Given the description of an element on the screen output the (x, y) to click on. 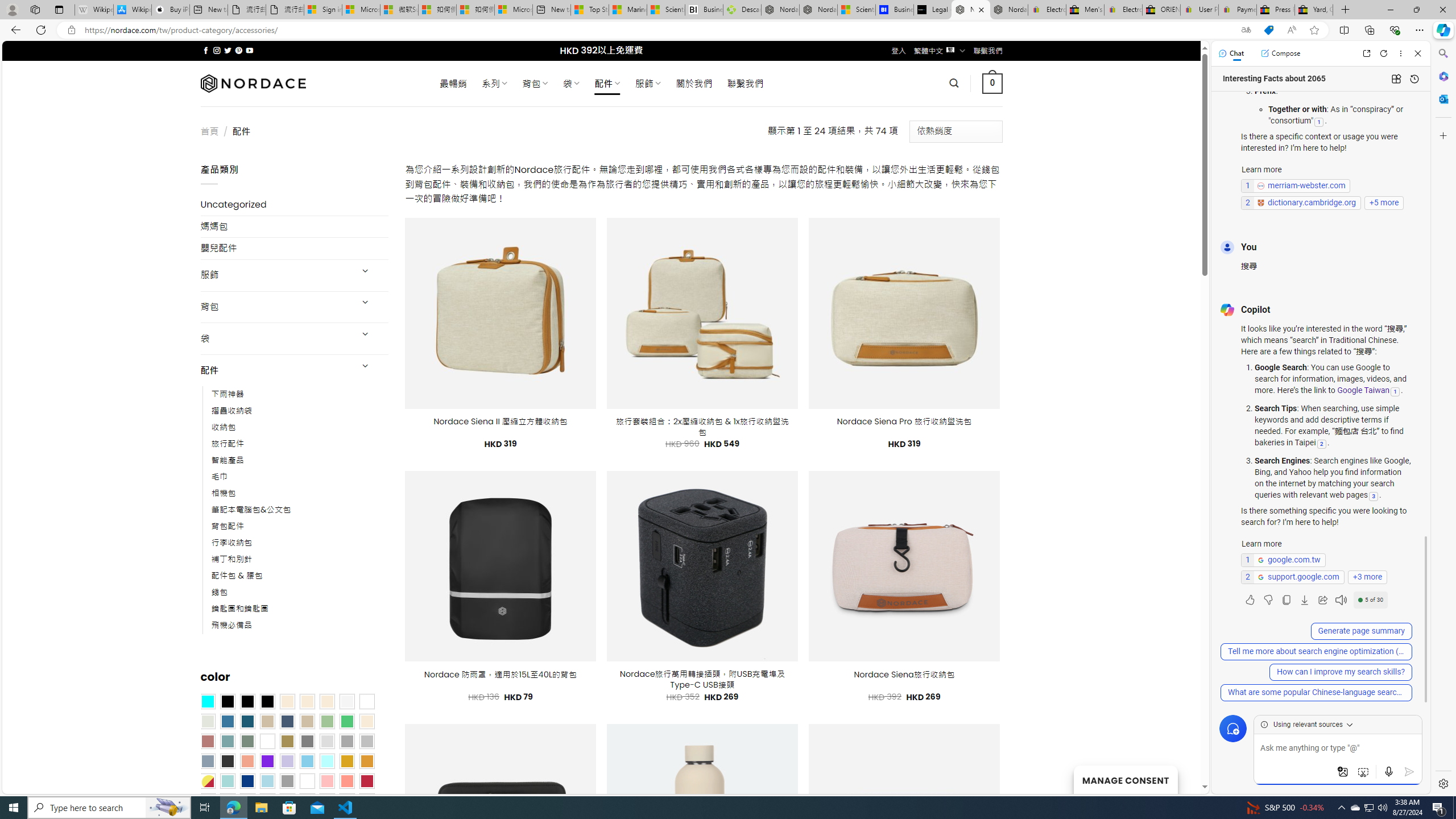
Uncategorized (294, 204)
Descarga Driver Updater (741, 9)
